Given the description of an element on the screen output the (x, y) to click on. 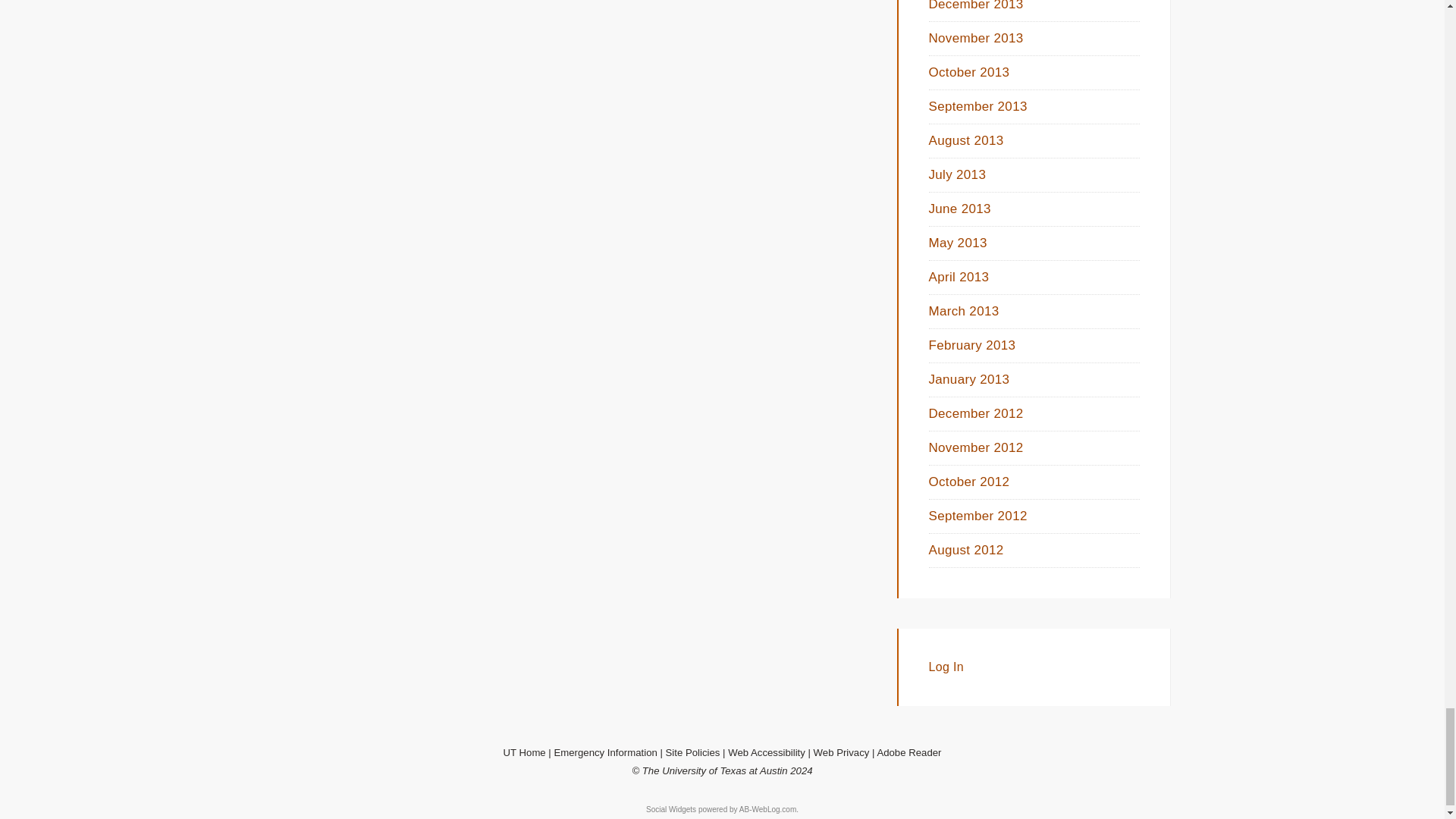
Software Developer Blog (767, 809)
